Given the description of an element on the screen output the (x, y) to click on. 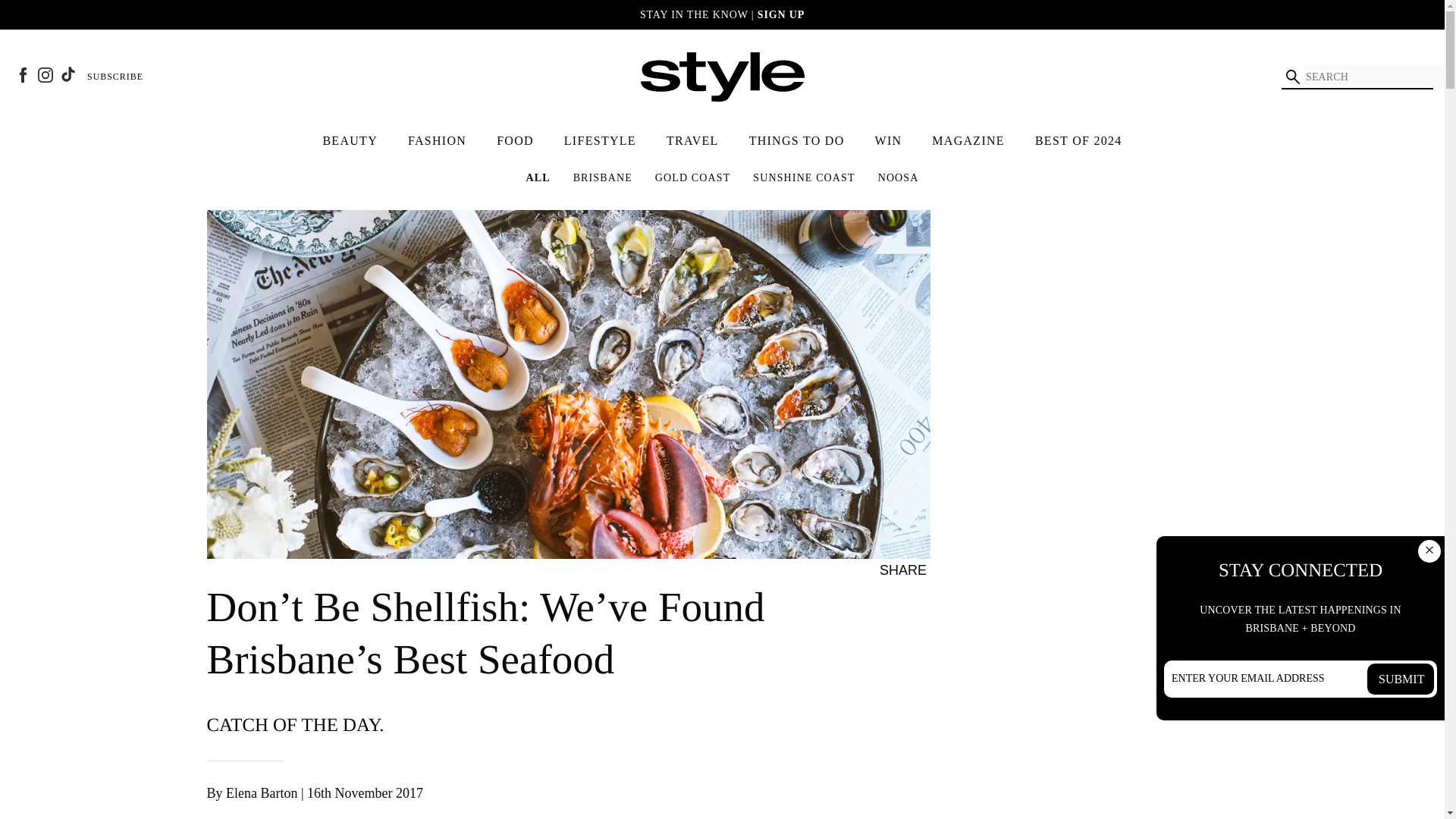
BEAUTY (349, 141)
Instagram (44, 74)
Subscribe (115, 76)
Facebook (22, 74)
Tiktok (68, 74)
Search (1292, 76)
Tiktok (68, 74)
SIGN UP (781, 14)
Facebook (22, 74)
Email (986, 569)
FASHION (437, 141)
SUBSCRIBE (115, 76)
FOOD (515, 141)
Instagram (44, 74)
Search (1292, 76)
